Given the description of an element on the screen output the (x, y) to click on. 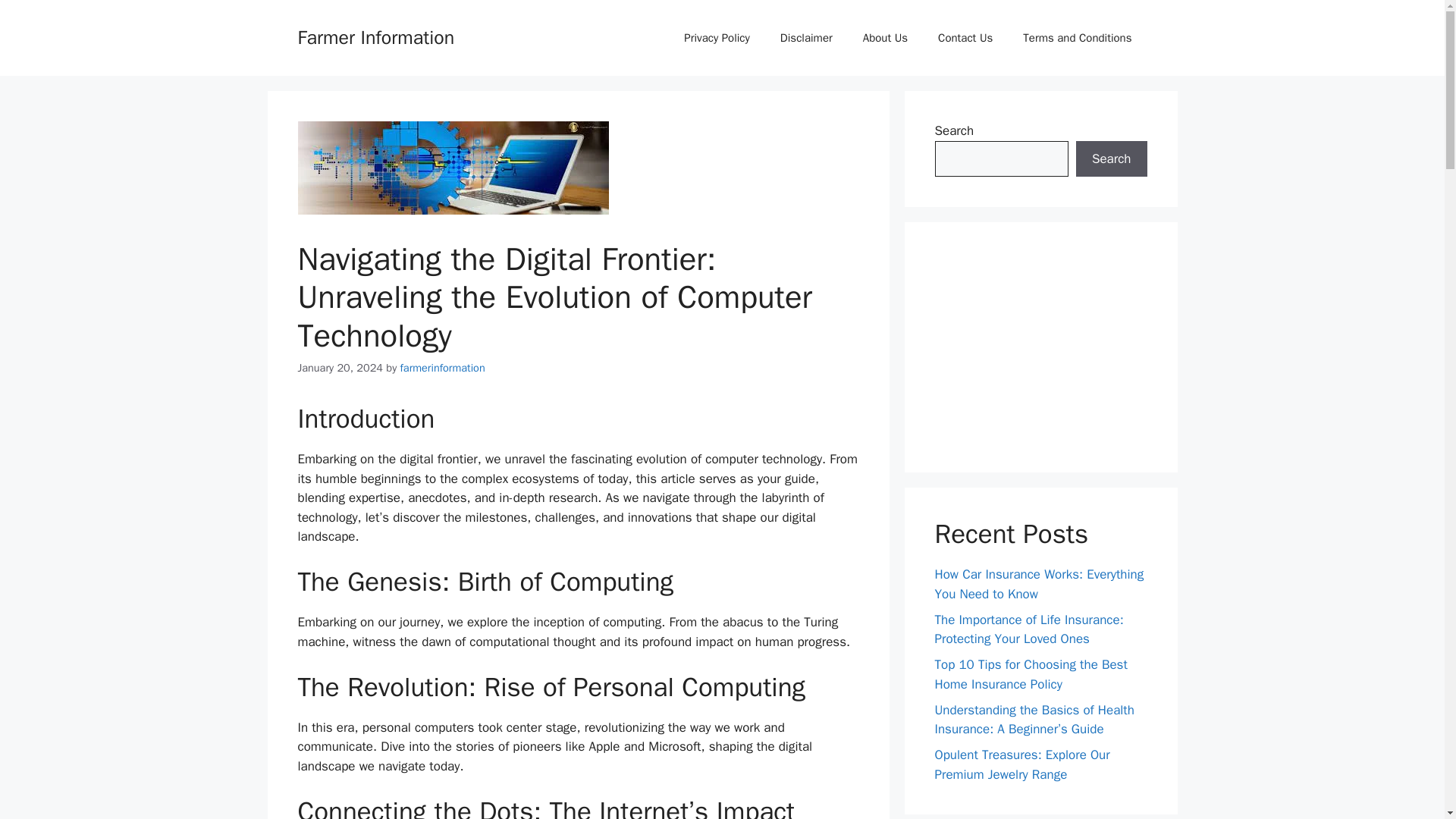
About Us (885, 37)
Disclaimer (806, 37)
farmerinformation (442, 367)
Terms and Conditions (1077, 37)
The Importance of Life Insurance: Protecting Your Loved Ones (1028, 628)
View all posts by farmerinformation (442, 367)
Contact Us (965, 37)
How Car Insurance Works: Everything You Need to Know (1038, 583)
Opulent Treasures: Explore Our Premium Jewelry Range (1021, 764)
Farmer Information (375, 37)
Search (1111, 158)
Privacy Policy (716, 37)
Top 10 Tips for Choosing the Best Home Insurance Policy (1030, 674)
